Given the description of an element on the screen output the (x, y) to click on. 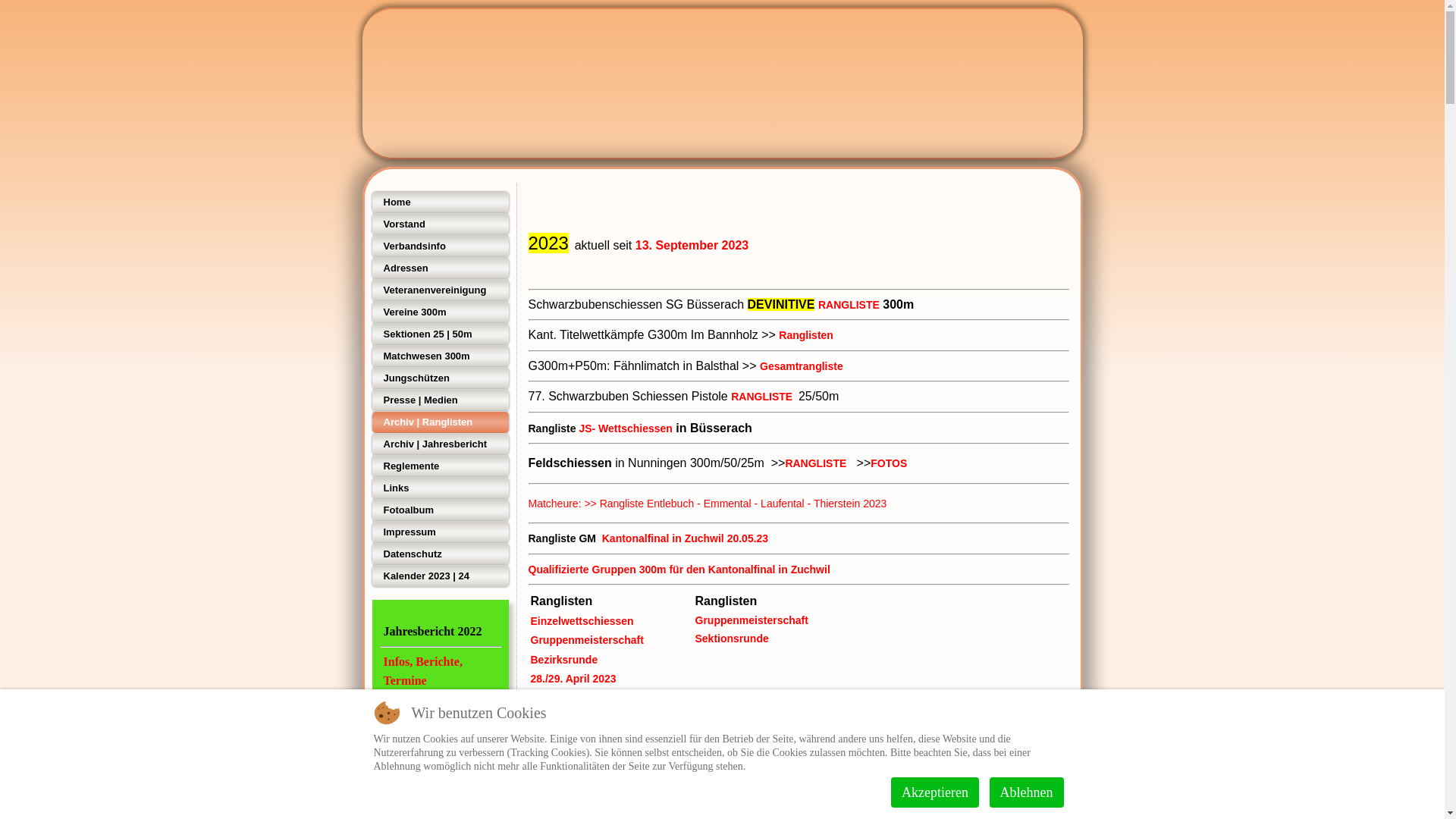
Fotoalbum Element type: text (439, 509)
Links Element type: text (439, 487)
Impressum Element type: text (439, 531)
Adressen Element type: text (439, 268)
Akzeptieren Element type: text (935, 792)
Veteranenvereinigung Element type: text (439, 290)
Archiv | Ranglisten Element type: text (439, 422)
Datenschutz Element type: text (439, 553)
Jahresprogramm 2023 Element type: text (892, 796)
Rangliste GM  Kantonalfinal in Zuchwil 20.05.23 Element type: text (797, 533)
RANGLISTE Element type: text (815, 463)
Matchwesen 300m Element type: text (439, 356)
Sektionen 25 | 50m Element type: text (439, 334)
Verbandsinfo Element type: text (439, 246)
Home Element type: text (439, 202)
RANGLISTE Element type: text (761, 396)
HIER im Bulletin Element type: text (439, 700)
Archiv | Jahresbericht Element type: text (439, 444)
Reglemente Element type: text (439, 465)
Kalender 2023 | 24 Element type: text (439, 575)
RANGLISTE Element type: text (848, 304)
Gruppenmeisterschaft
Sektionsrunde Element type: text (750, 629)
137. Delegiertenversammlung 03.03.2023 in Erschwil |  FOTOS Element type: text (684, 755)
Vereine 300m Element type: text (439, 312)
Ablehnen Element type: text (1026, 792)
Ranglisten Element type: text (805, 335)
Vorstand Element type: text (439, 224)
Rangliste JS- Wettschiessen Element type: text (797, 422)
Presse | Medien Element type: text (439, 400)
FOTOS Element type: text (888, 463)
Gesamtrangliste Element type: text (801, 365)
Reglement zur Bezirksmeisterschaft 2023 Element type: text (632, 715)
